Given the description of an element on the screen output the (x, y) to click on. 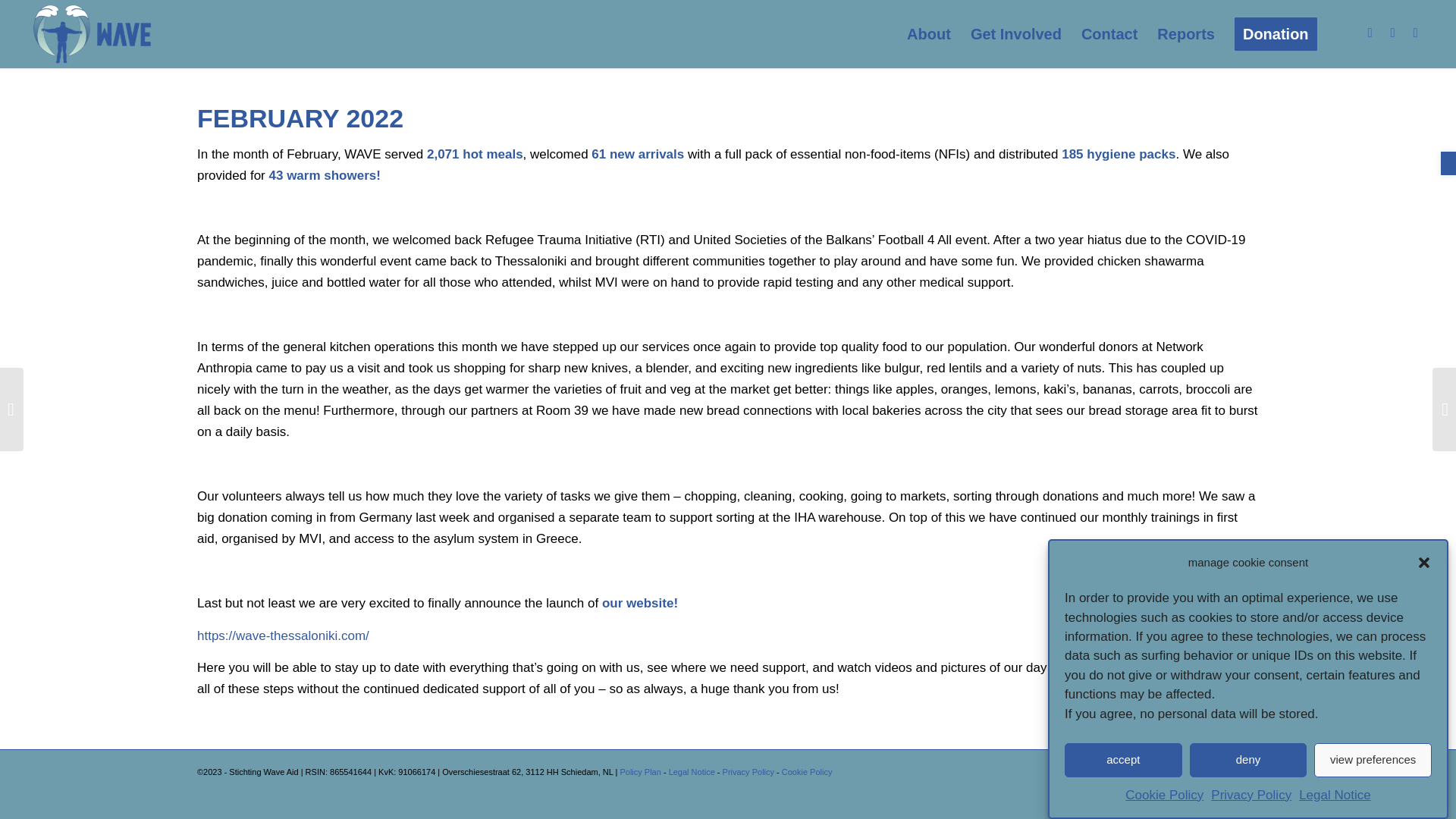
Policy Plan (640, 771)
About (928, 33)
Instagram (1369, 33)
Donation (1275, 33)
Reports (1185, 33)
Instagram (1201, 768)
Facebook (1224, 768)
Get Involved (1015, 33)
Mail (1415, 33)
Mail (1247, 768)
Facebook (1393, 33)
Legal Notice (691, 771)
Contact (1109, 33)
